Given the description of an element on the screen output the (x, y) to click on. 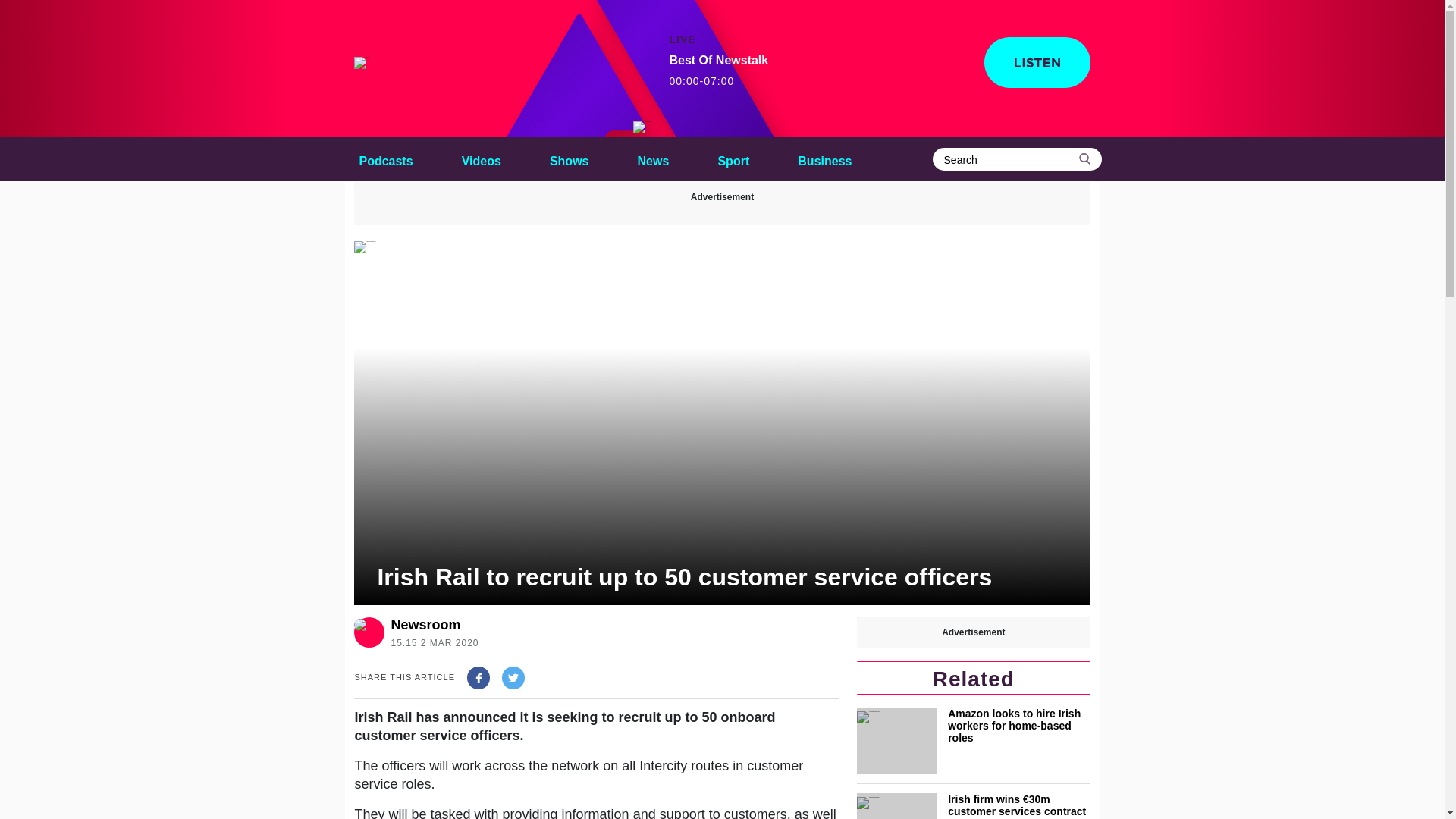
Business (824, 158)
Sport (733, 158)
News (653, 158)
Best Of Newstalk (641, 127)
Podcasts (384, 158)
Amazon looks to hire Irish workers for home-based roles (973, 740)
News (653, 158)
Shows (569, 158)
Videos (481, 158)
Newsroom (430, 624)
Videos (481, 158)
Podcasts (384, 158)
Business (824, 158)
